Given the description of an element on the screen output the (x, y) to click on. 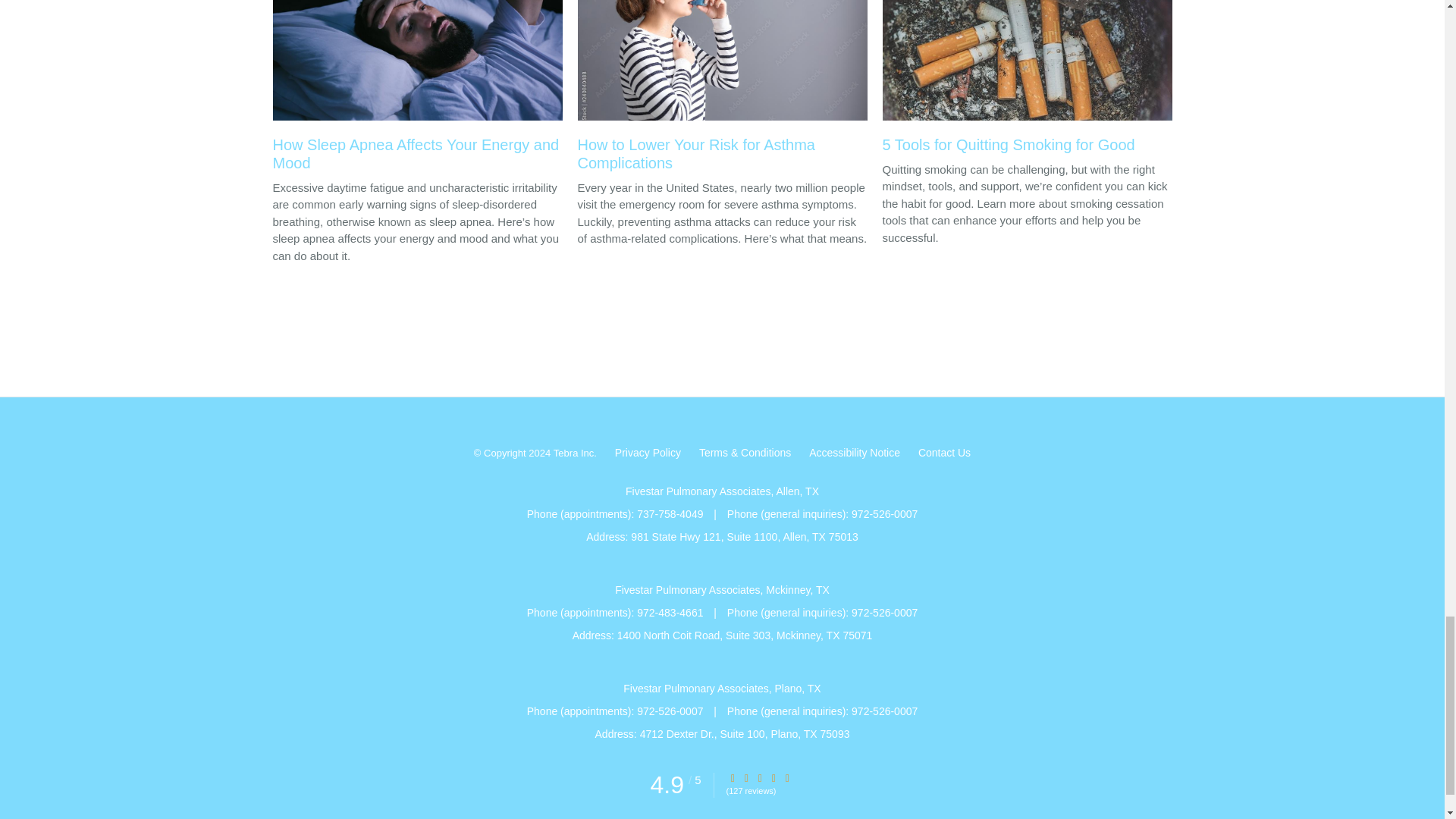
Star Rating (760, 778)
Star Rating (746, 778)
Star Rating (773, 778)
Star Rating (788, 778)
Star Rating (733, 778)
